Given the description of an element on the screen output the (x, y) to click on. 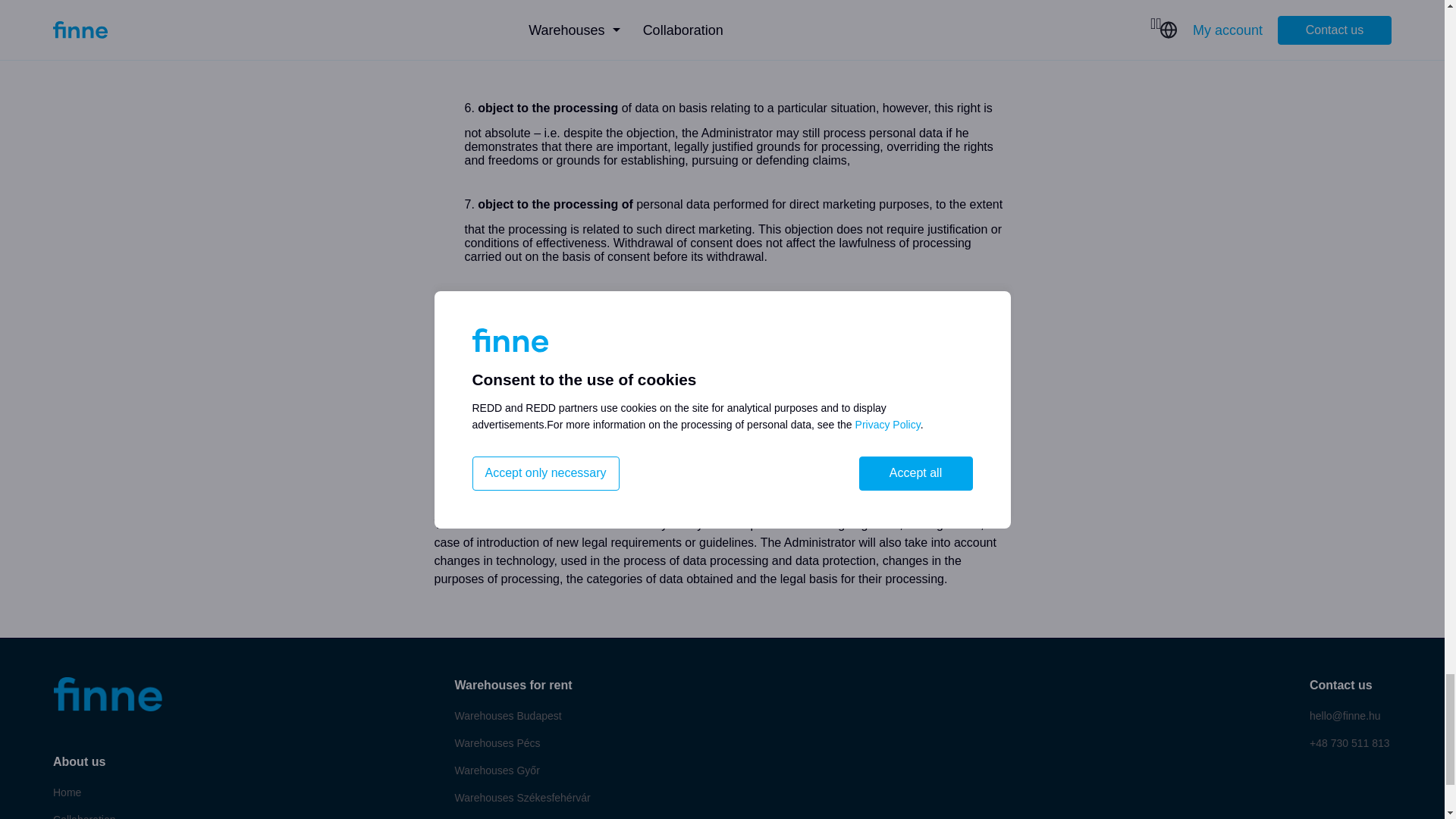
Warehouses Budapest (508, 715)
Collaboration (84, 814)
Home (66, 791)
Warehouses Szeged (503, 817)
